Given the description of an element on the screen output the (x, y) to click on. 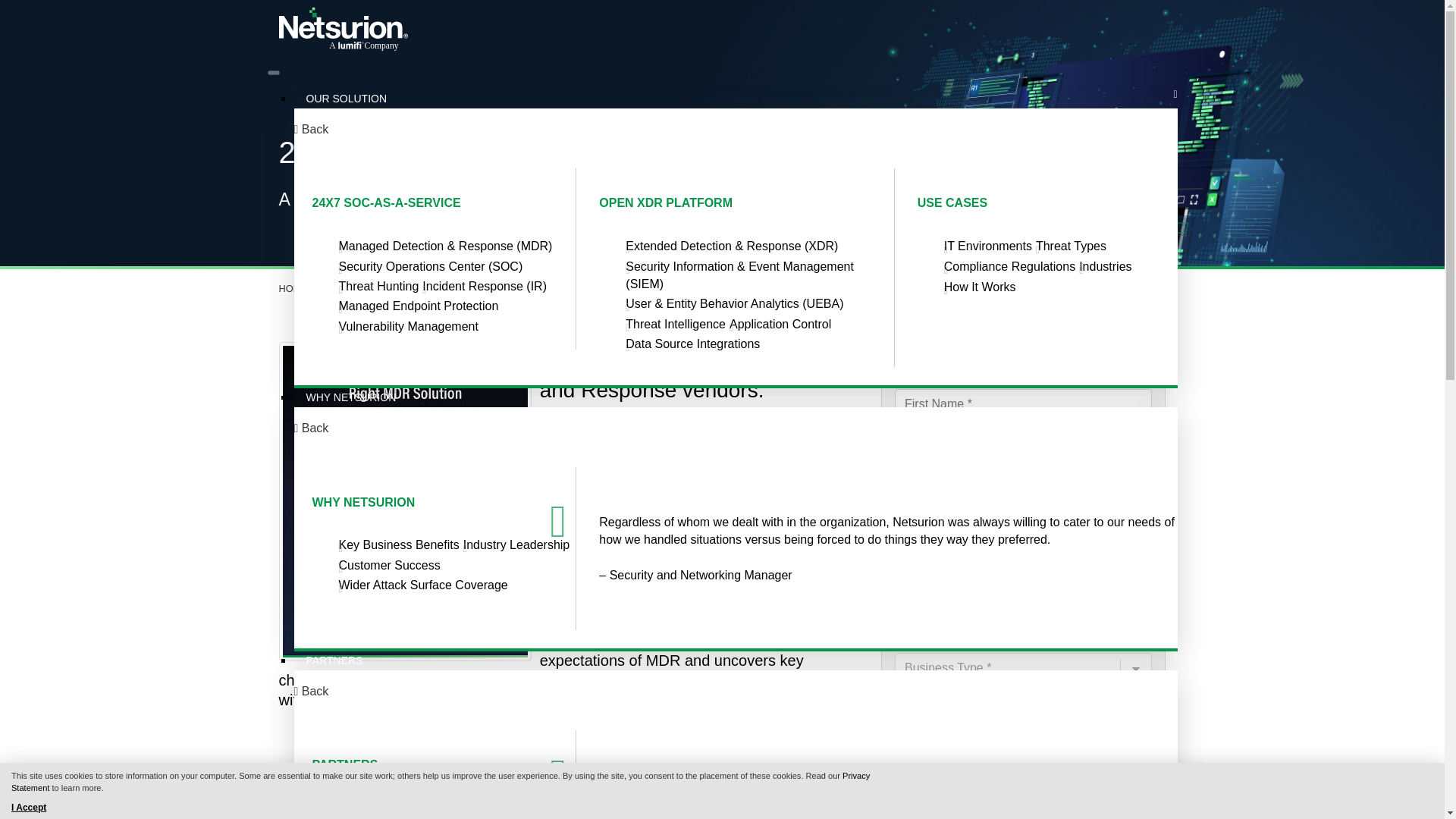
How It Works (979, 286)
Back (311, 136)
Wider Attack Surface Coverage (421, 584)
USE CASES (952, 202)
PARTNERS (334, 653)
Managed Endpoint Protection (417, 305)
NS-Logo-Reverse (343, 29)
PARTNERS (345, 764)
24X7 SOC-AS-A-SERVICE (387, 202)
WHY NETSURION (363, 502)
Threat Intelligence (675, 323)
Customer Success (388, 564)
Data Source Integrations (693, 343)
OPEN XDR PLATFORM (665, 202)
Compliance Regulations (1009, 266)
